Given the description of an element on the screen output the (x, y) to click on. 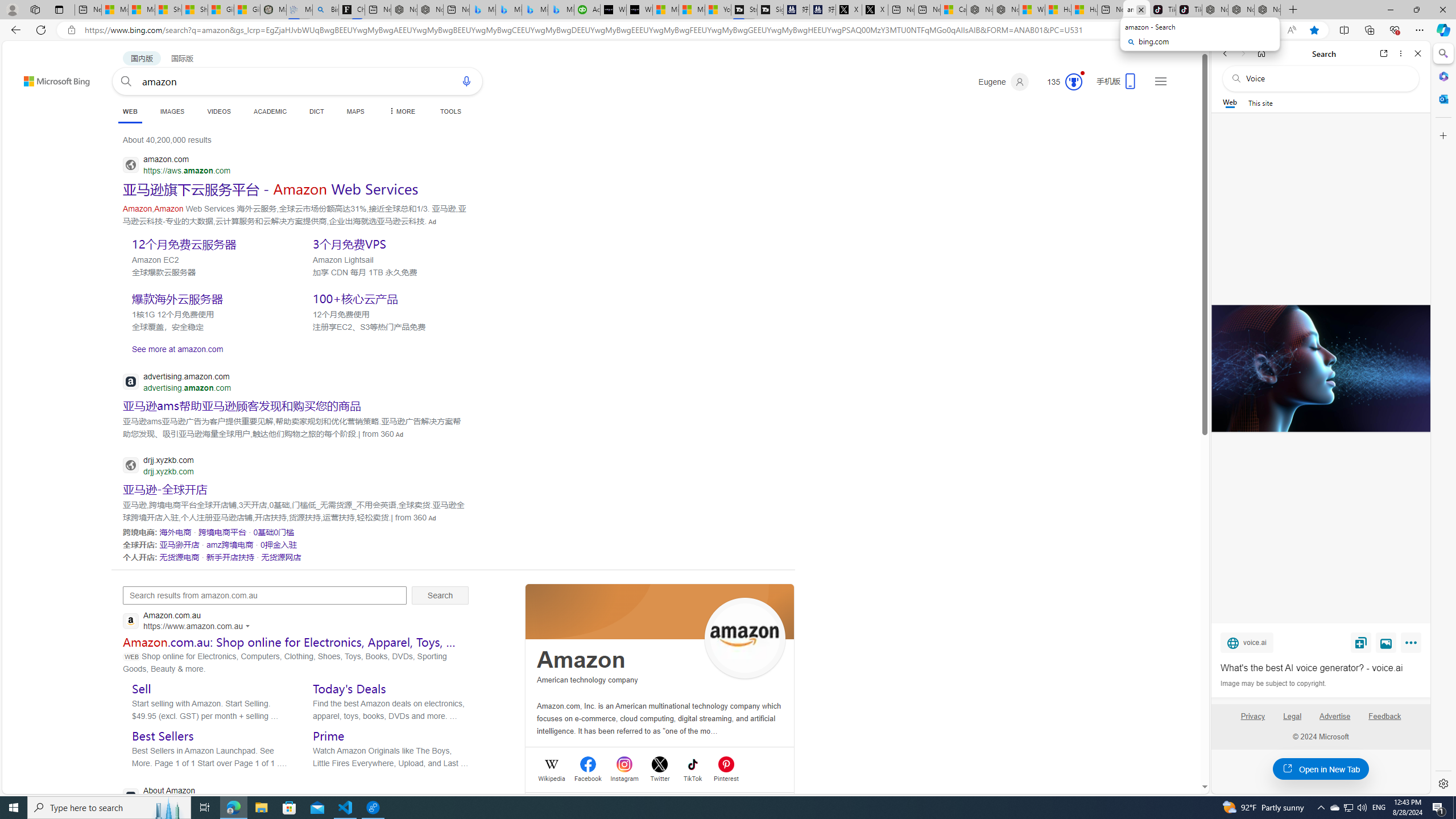
See more images of Amazon (745, 638)
IMAGES (172, 111)
TOOLS (450, 111)
Microsoft 365 (1442, 76)
Streaming Coverage | T3 (743, 9)
Outlook (1442, 98)
Dropdown Menu (400, 111)
Privacy (1252, 720)
SERP,5551 (388, 243)
Back to Bing search (50, 78)
Search more (1179, 753)
SERP,5567 (222, 532)
